Given the description of an element on the screen output the (x, y) to click on. 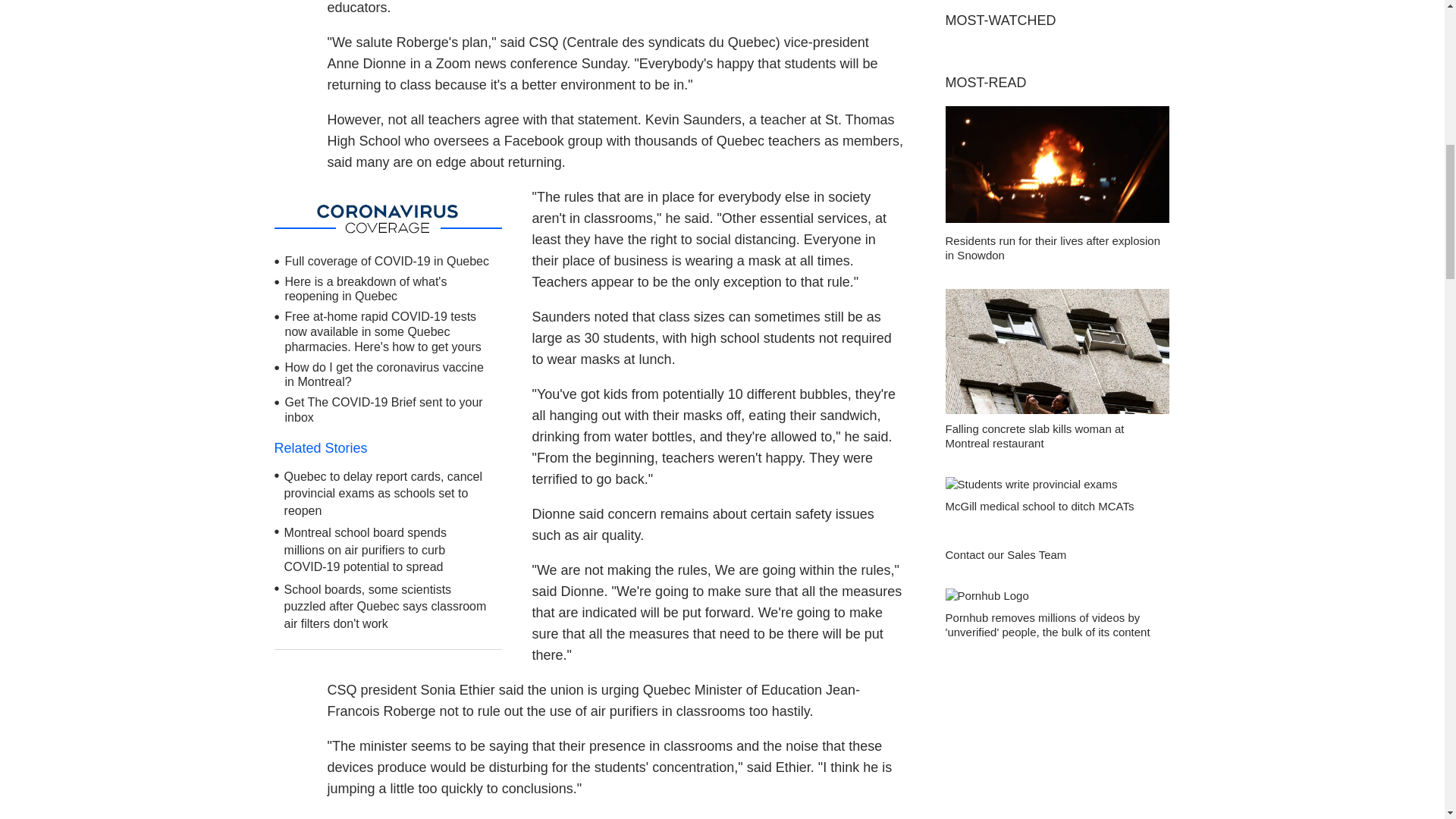
Here is a breakdown of what's reopening in Quebec (365, 289)
Get The COVID-19 Brief sent to your inbox (384, 409)
How do I get the coronavirus vaccine in Montreal? (384, 375)
Here is a breakdown of what's reopening in Quebec (365, 289)
How do I get the coronavirus vaccine in Montreal? (384, 375)
Full coverage of COVID-19 in Quebec (387, 260)
